Given the description of an element on the screen output the (x, y) to click on. 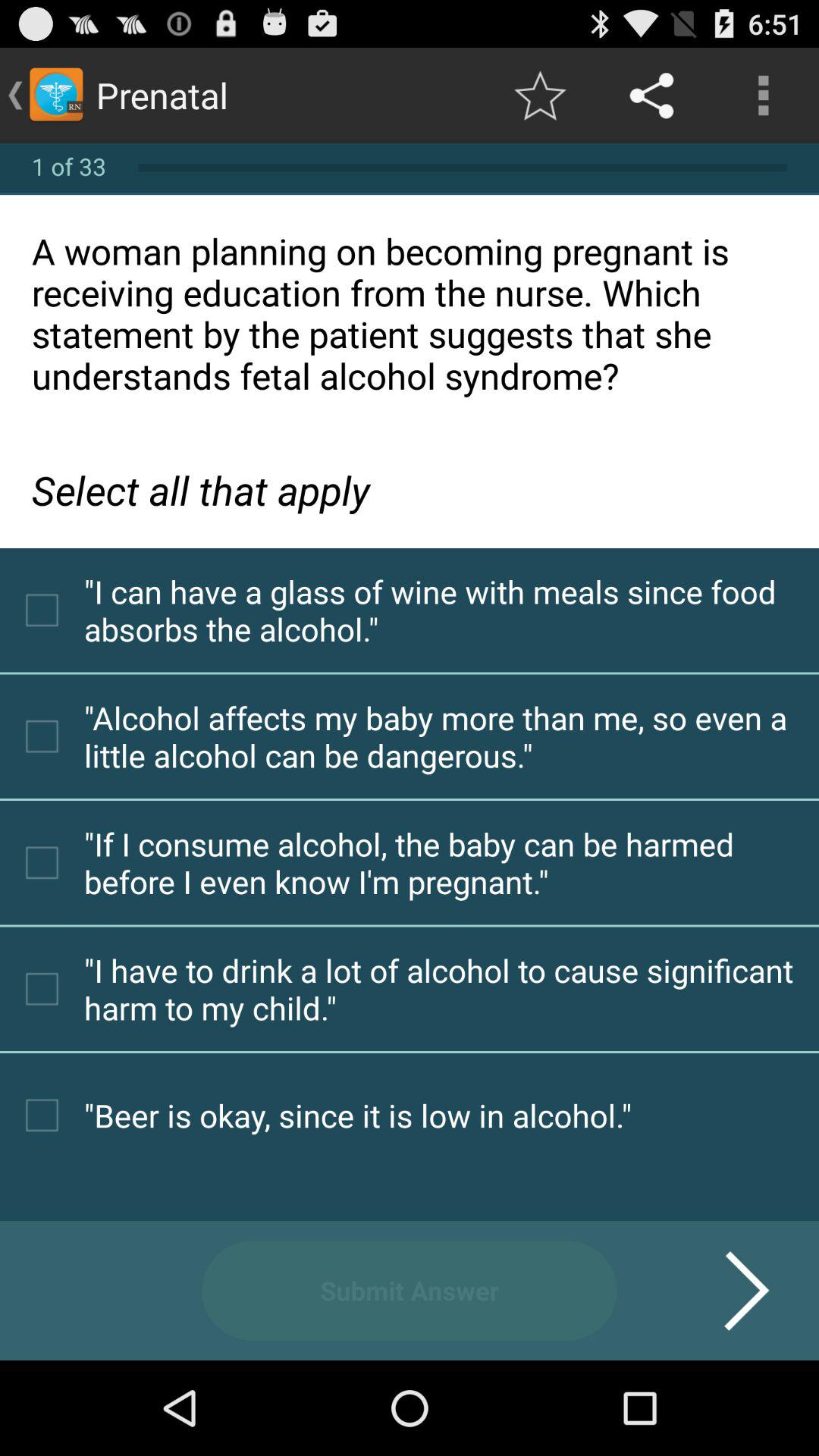
tap the icon next to the submit answer icon (728, 1290)
